Given the description of an element on the screen output the (x, y) to click on. 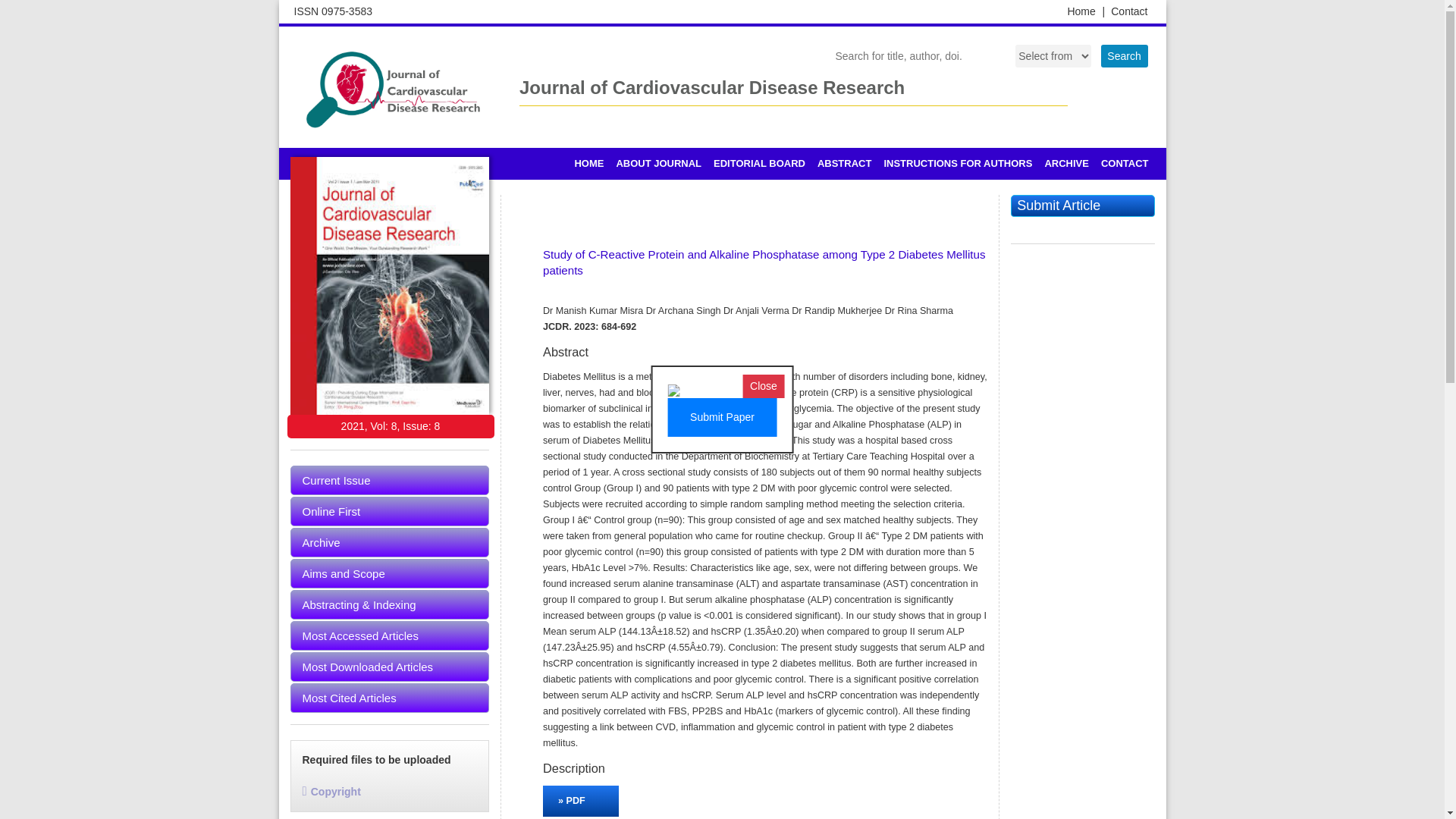
ABOUT JOURNAL (658, 163)
HOME (588, 163)
Search (1124, 56)
Archive (389, 542)
Most Cited Articles (389, 697)
Search (1124, 56)
Contact (1129, 11)
CONTACT (1124, 163)
Most Accessed Articles (389, 635)
Copyright (330, 791)
